Given the description of an element on the screen output the (x, y) to click on. 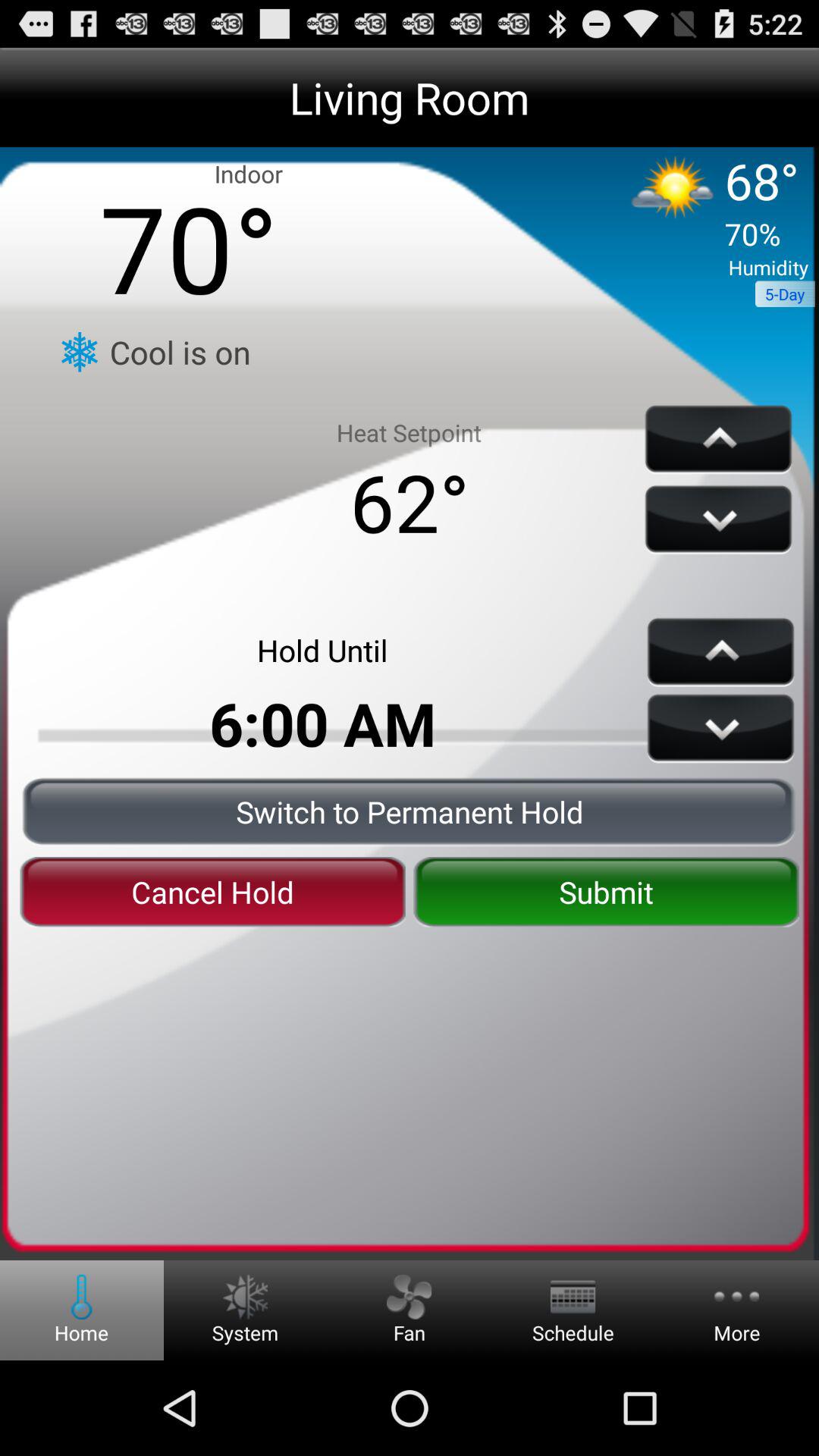
scroll to the 5-day icon (785, 293)
